Given the description of an element on the screen output the (x, y) to click on. 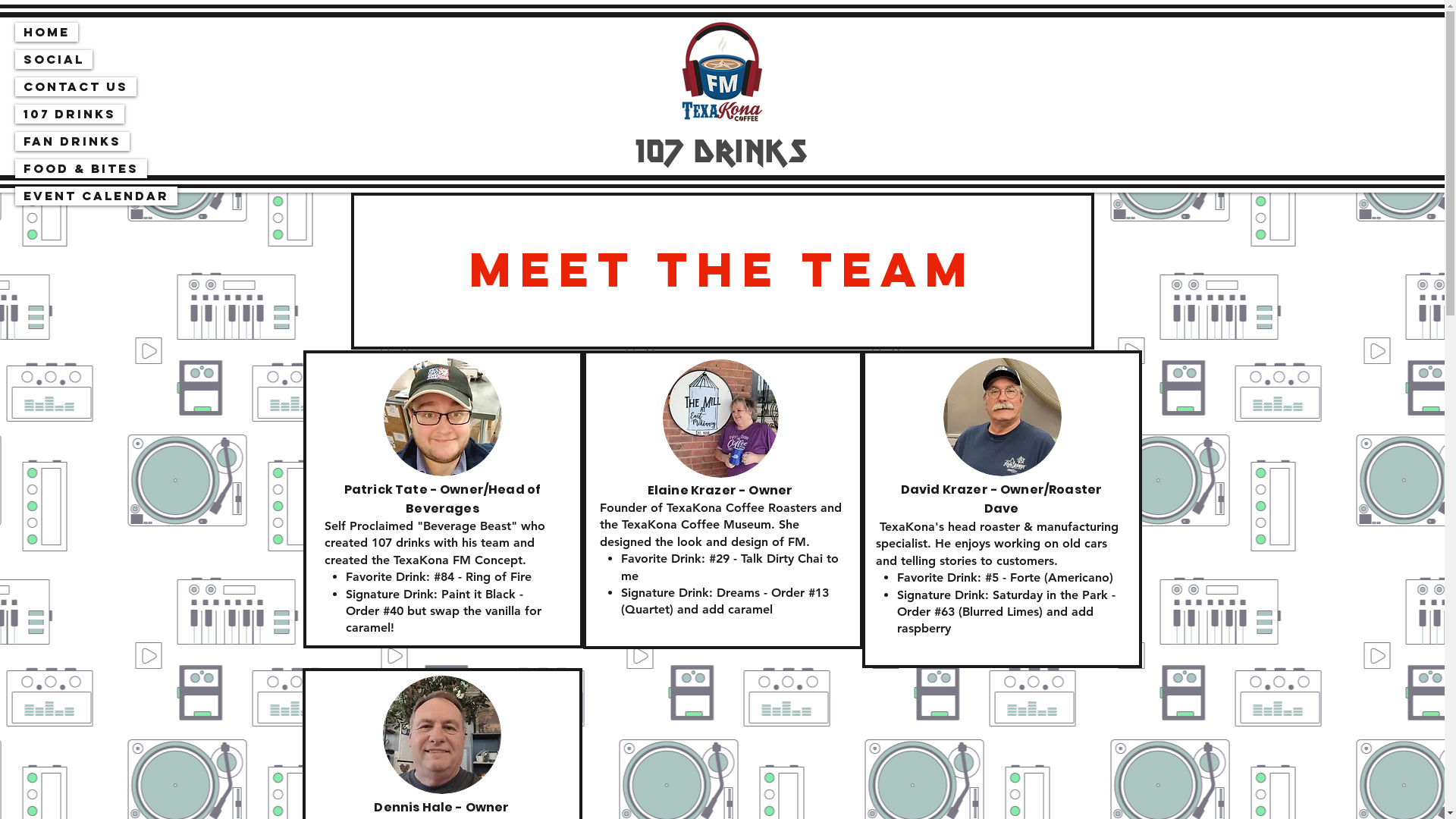
Social Element type: text (53, 59)
Event Calendar Element type: text (96, 195)
Fan Drinks Element type: text (72, 140)
Home Element type: text (46, 31)
Contact Us Element type: text (75, 86)
Food & Bites Element type: text (81, 168)
107 Drinks Element type: text (69, 113)
